Given the description of an element on the screen output the (x, y) to click on. 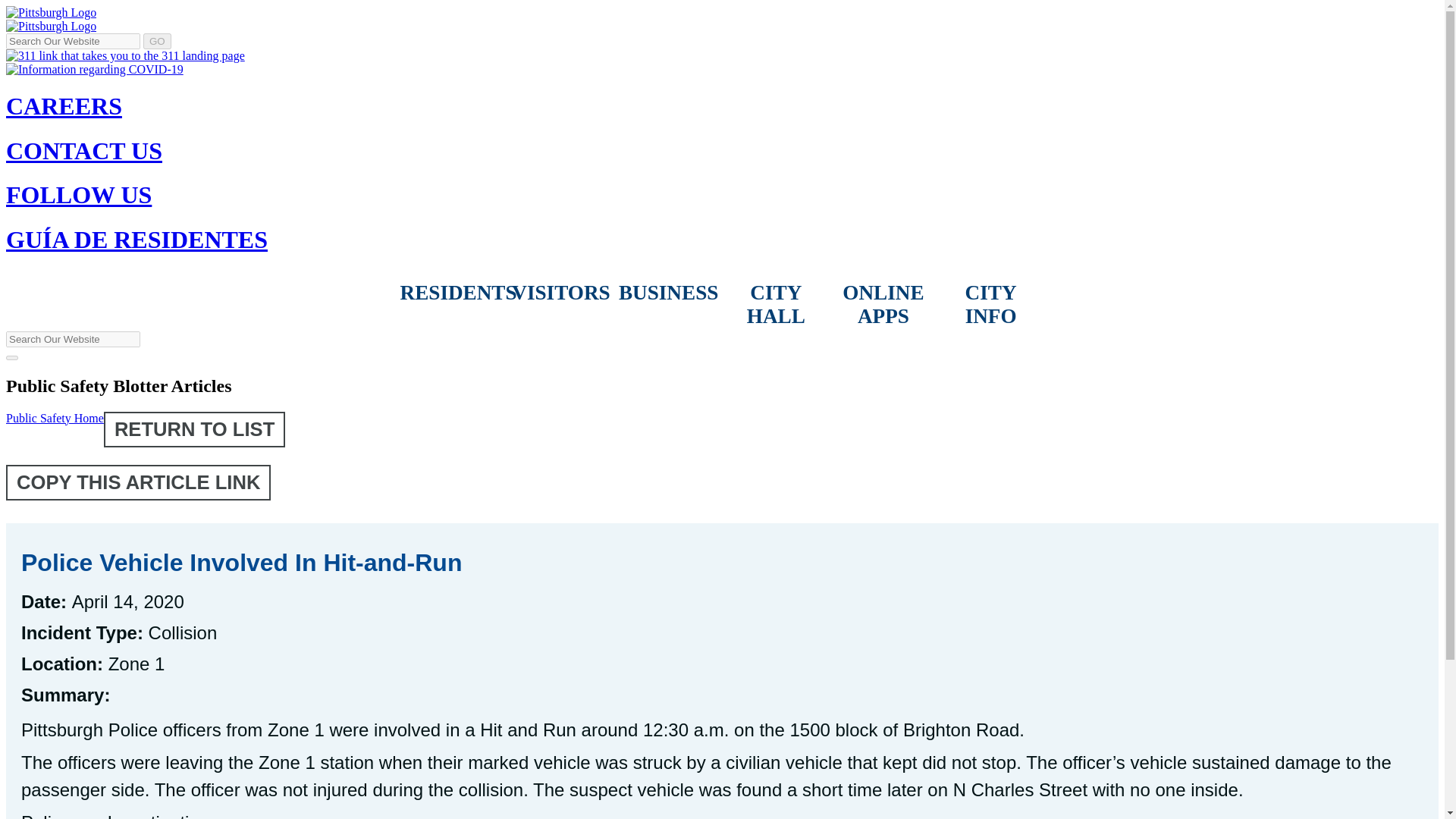
Residents (454, 292)
